Given the description of an element on the screen output the (x, y) to click on. 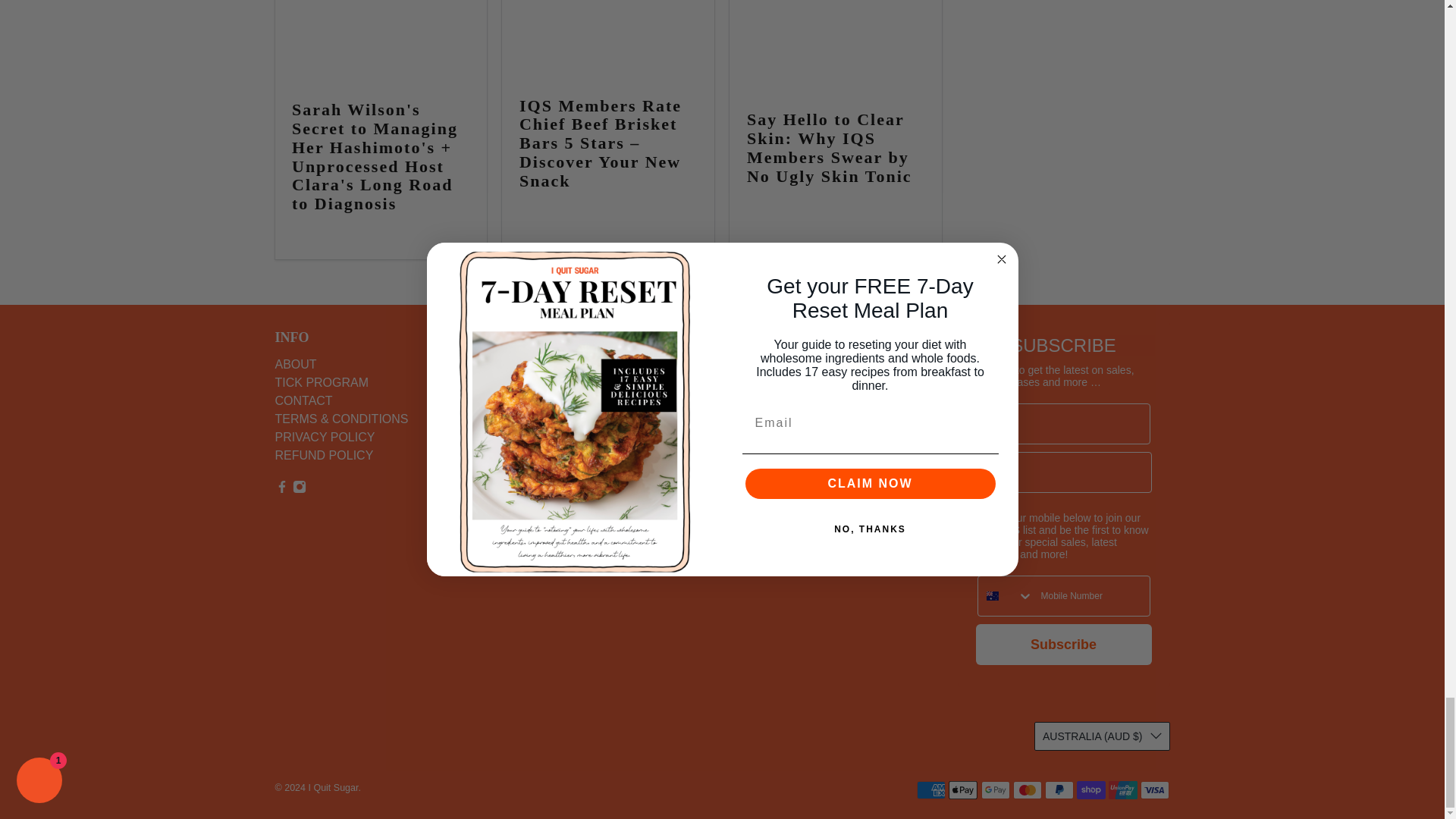
Union Pay (1122, 790)
Shop Pay (1091, 790)
Google Pay (995, 790)
Visa (1154, 790)
Apple Pay (962, 790)
PayPal (1059, 790)
Mastercard (1027, 790)
American Express (930, 790)
